Given the description of an element on the screen output the (x, y) to click on. 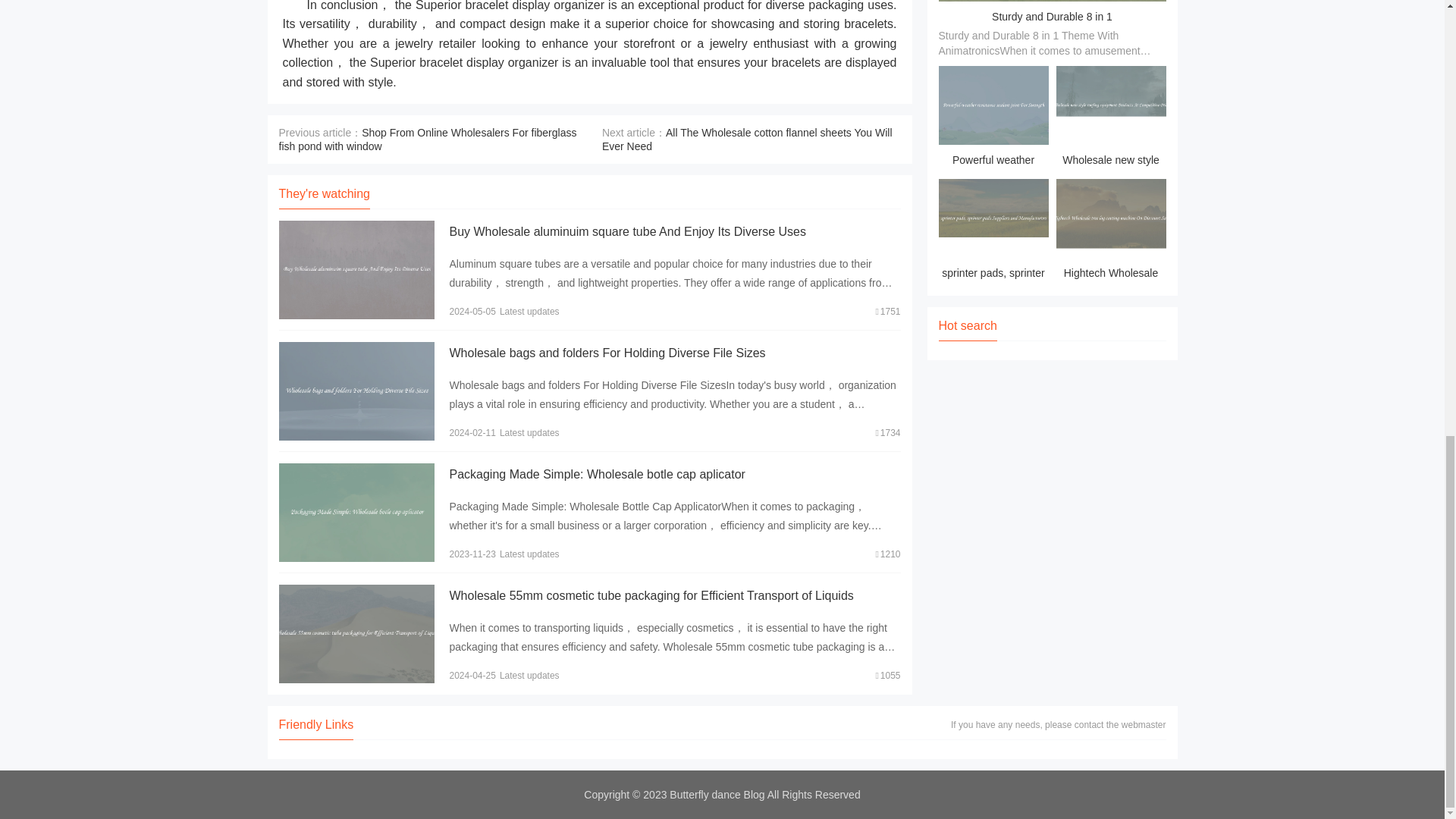
Powerful weather resistance sealant joint For Strength (993, 118)
Packaging Made Simple: Wholesale botle cap aplicator (596, 472)
Hightech Wholesale tree log cutting machine On Discount Sale (1110, 231)
Wholesale bags and folders For Holding Diverse File Sizes (606, 351)
sprinter pads, sprinter pads Suppliers and Manufacturers (993, 231)
Sturdy and Durable 8 in 1 theme With Animatronics (1051, 27)
All The Wholesale cotton flannel sheets You Will Ever Need (747, 138)
